Given the description of an element on the screen output the (x, y) to click on. 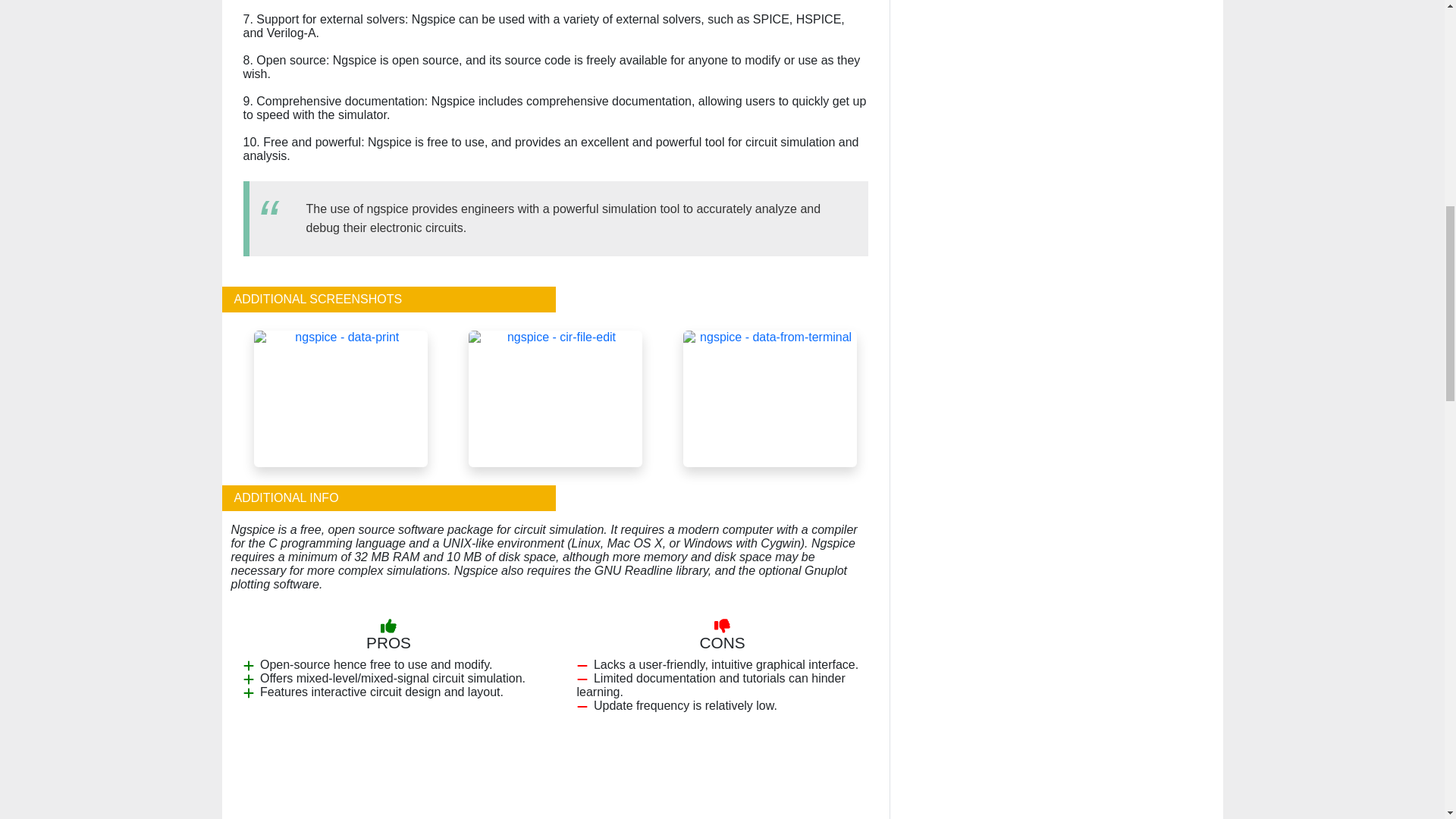
ngspice - data-from-terminal (769, 397)
ngspice - cir-file-edit (555, 397)
ngspice - data-print (340, 397)
YouTube video player (555, 787)
